Given the description of an element on the screen output the (x, y) to click on. 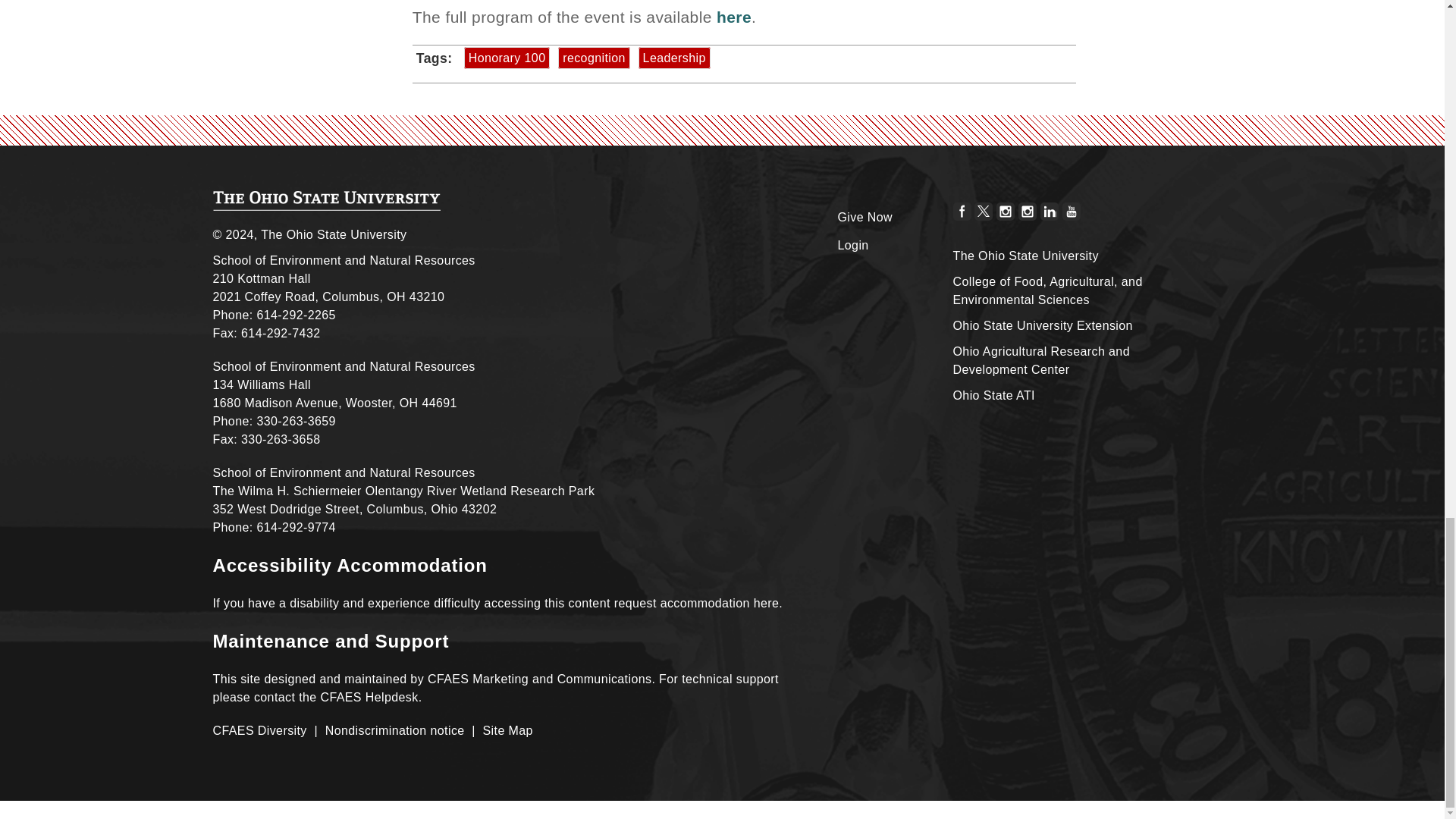
CFAES Home (325, 200)
